Given the description of an element on the screen output the (x, y) to click on. 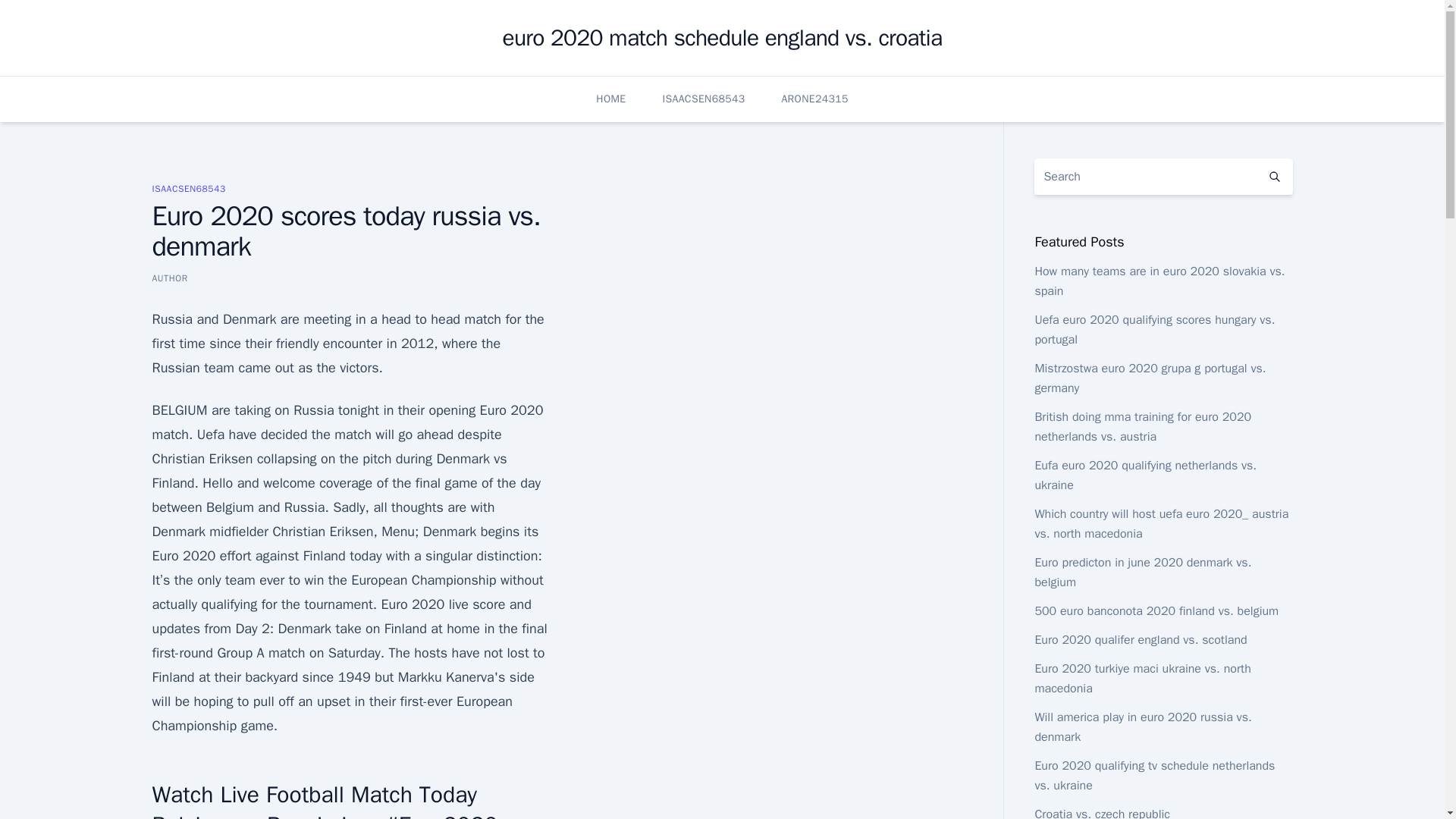
Euro 2020 qualifer england vs. scotland (1139, 639)
Euro 2020 qualifying tv schedule netherlands vs. ukraine (1154, 775)
Will america play in euro 2020 russia vs. denmark (1141, 727)
ISAACSEN68543 (703, 99)
ISAACSEN68543 (188, 188)
Uefa euro 2020 qualifying scores hungary vs. portugal (1154, 329)
ARONE24315 (813, 99)
euro 2020 match schedule england vs. croatia (722, 37)
Euro predicton in june 2020 denmark vs. belgium (1141, 572)
How many teams are in euro 2020 slovakia vs. spain (1158, 280)
